Given the description of an element on the screen output the (x, y) to click on. 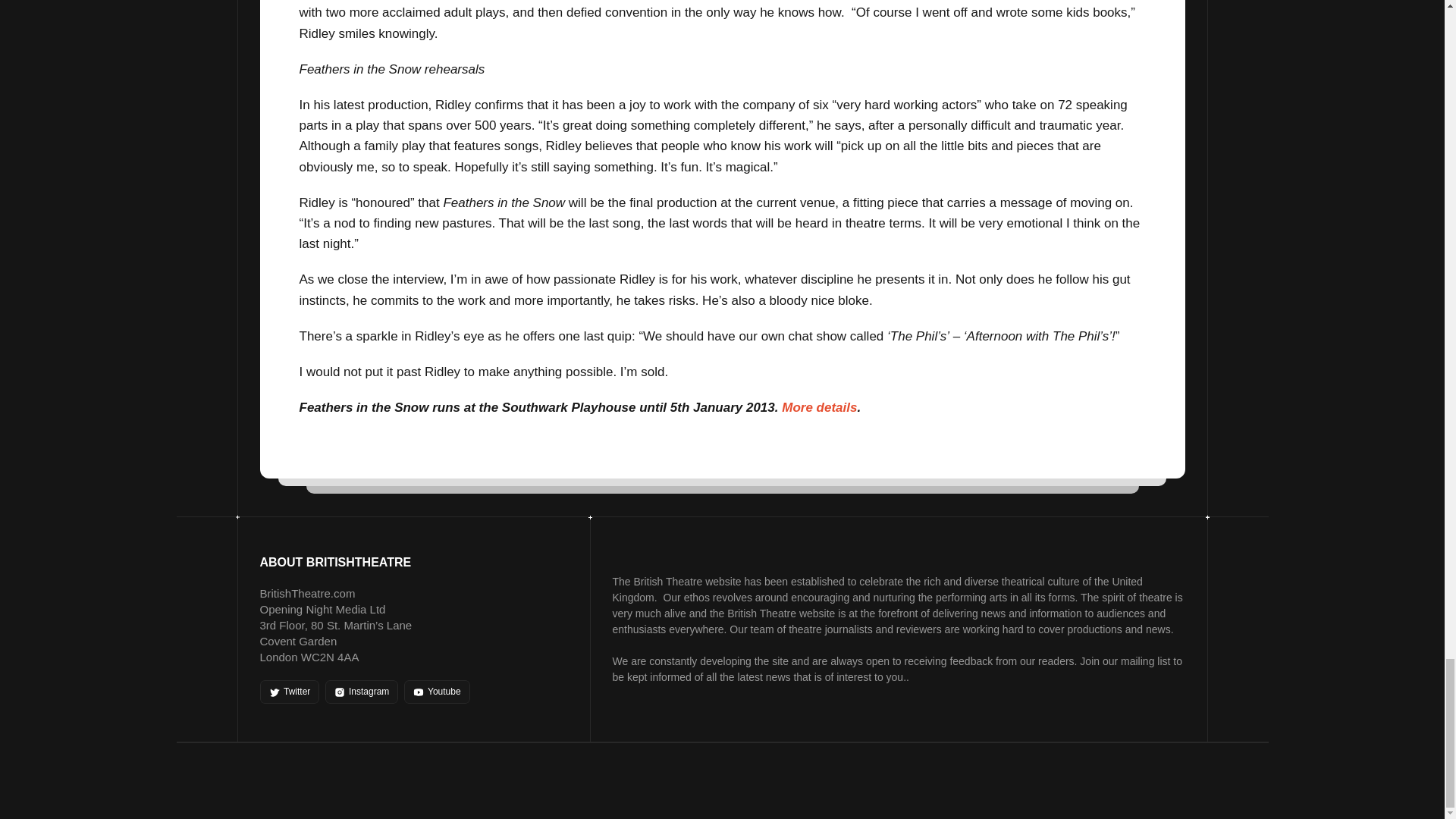
Youtube (437, 691)
Twitter (288, 691)
More details (819, 407)
Instagram (360, 691)
